Given the description of an element on the screen output the (x, y) to click on. 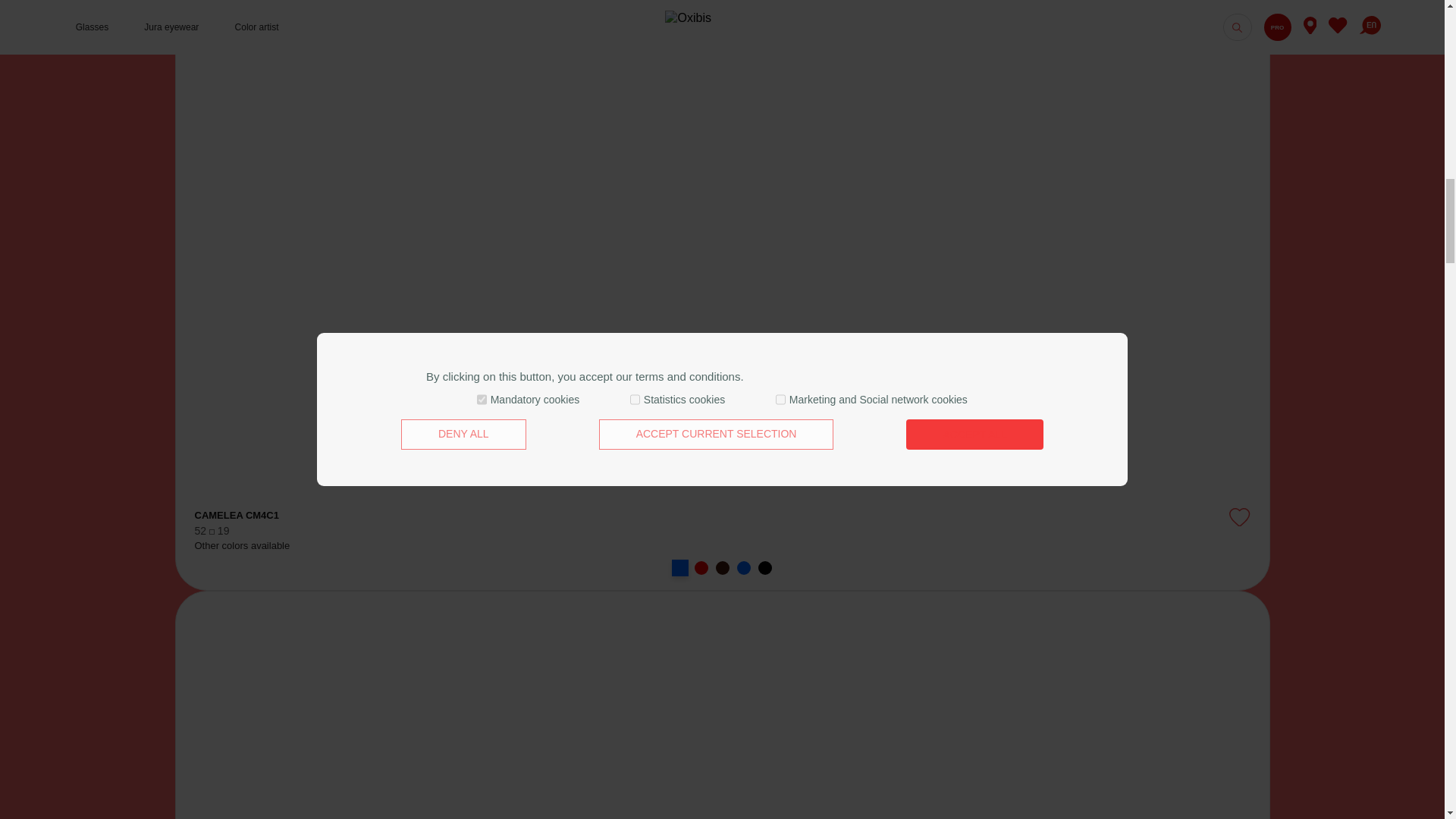
"organza" pink - "oxibis" red (700, 567)
"azurin" blue - "indigo" blue (678, 566)
pink golden - "charbon" black (764, 567)
"tiffany" blue - "chartreuse" green (743, 567)
